Given the description of an element on the screen output the (x, y) to click on. 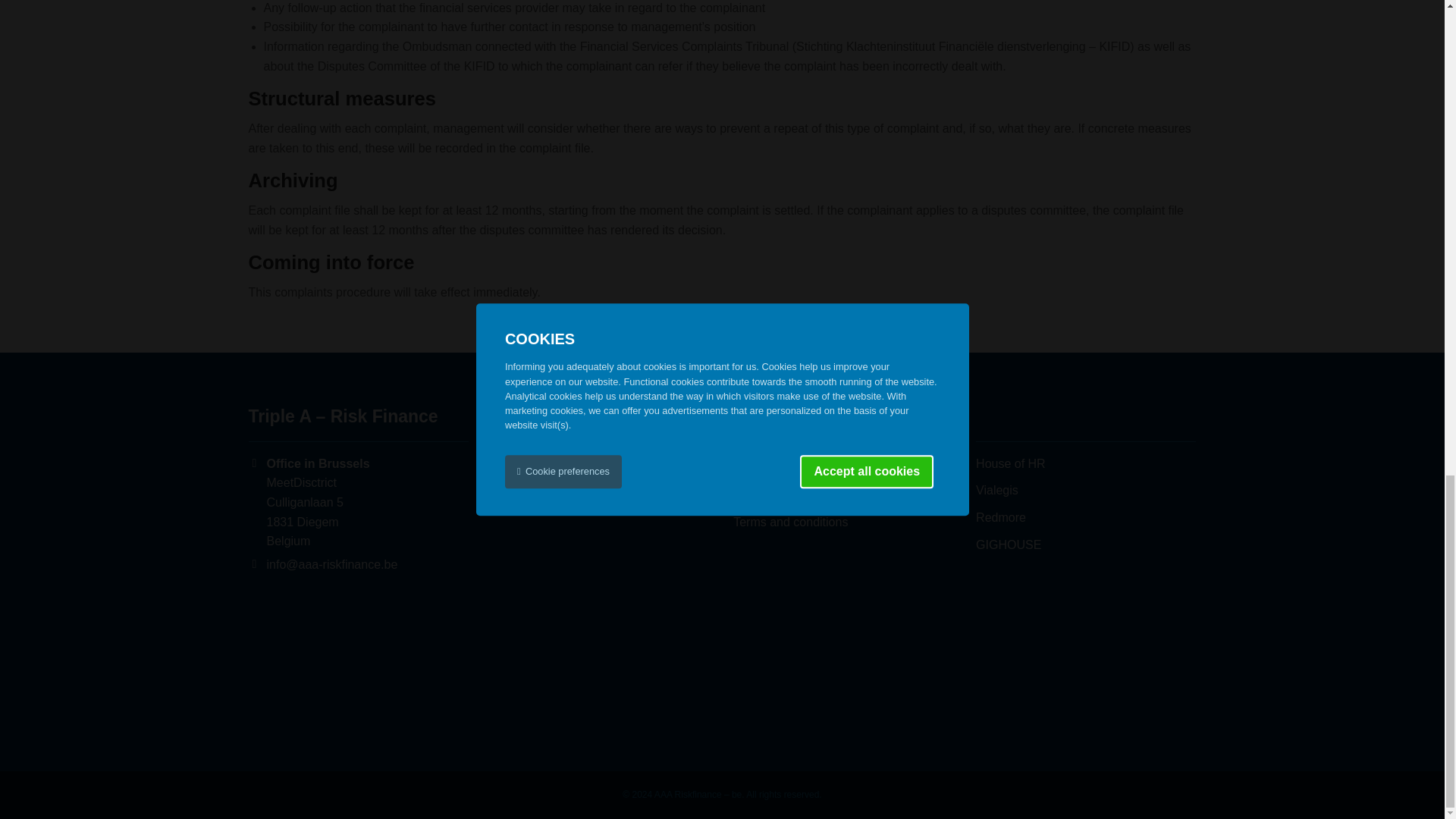
Redmore (1000, 517)
Vialegis (996, 490)
Disclaimer (761, 481)
Privacy Statement and Disclaimer (824, 463)
House of HR (1010, 463)
Redmore (1000, 517)
Vialegis (996, 490)
Profource (1010, 463)
Complaints procedure (792, 502)
Terms and conditions (790, 521)
